Given the description of an element on the screen output the (x, y) to click on. 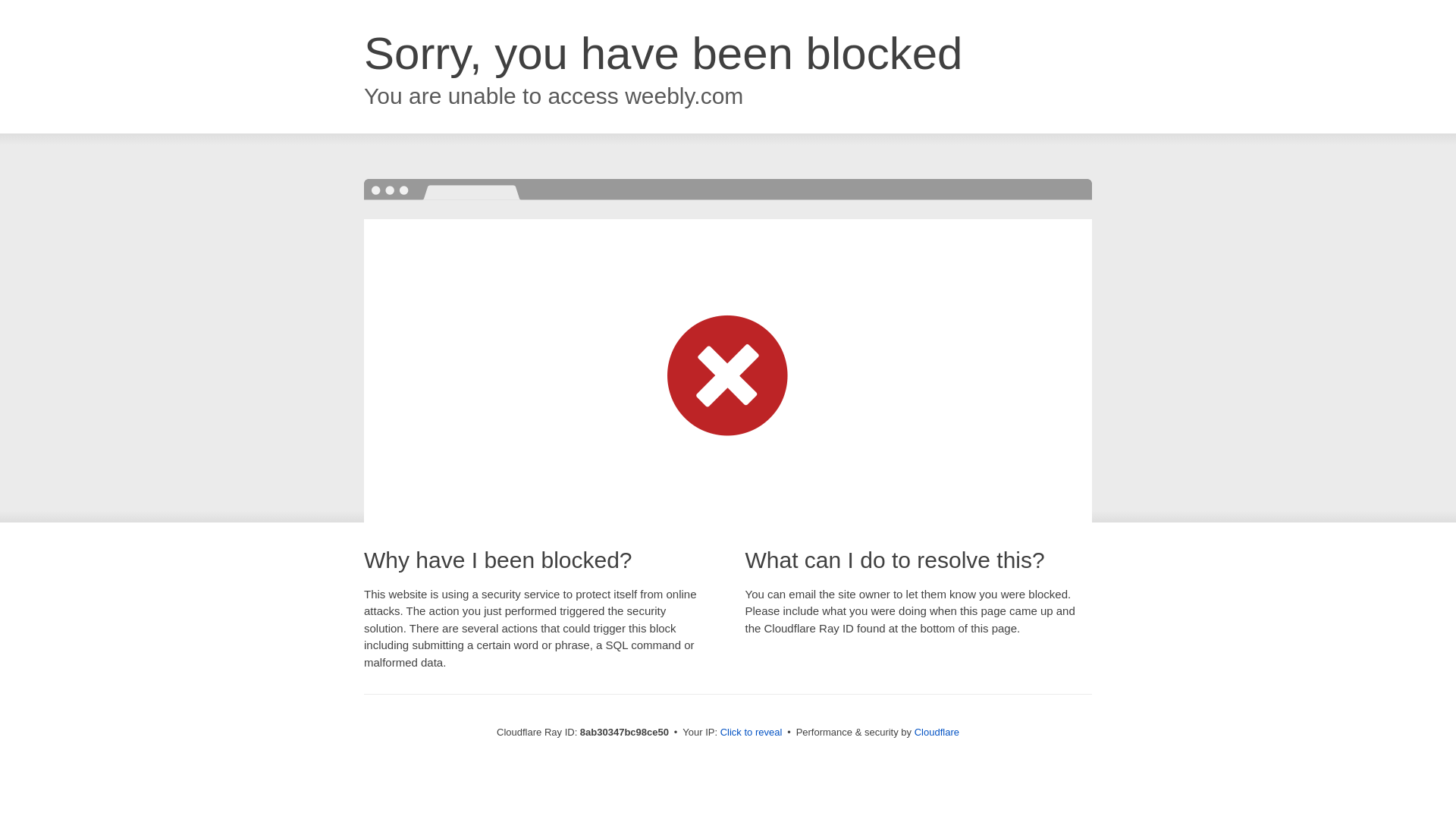
Click to reveal (751, 732)
Cloudflare (936, 731)
